Given the description of an element on the screen output the (x, y) to click on. 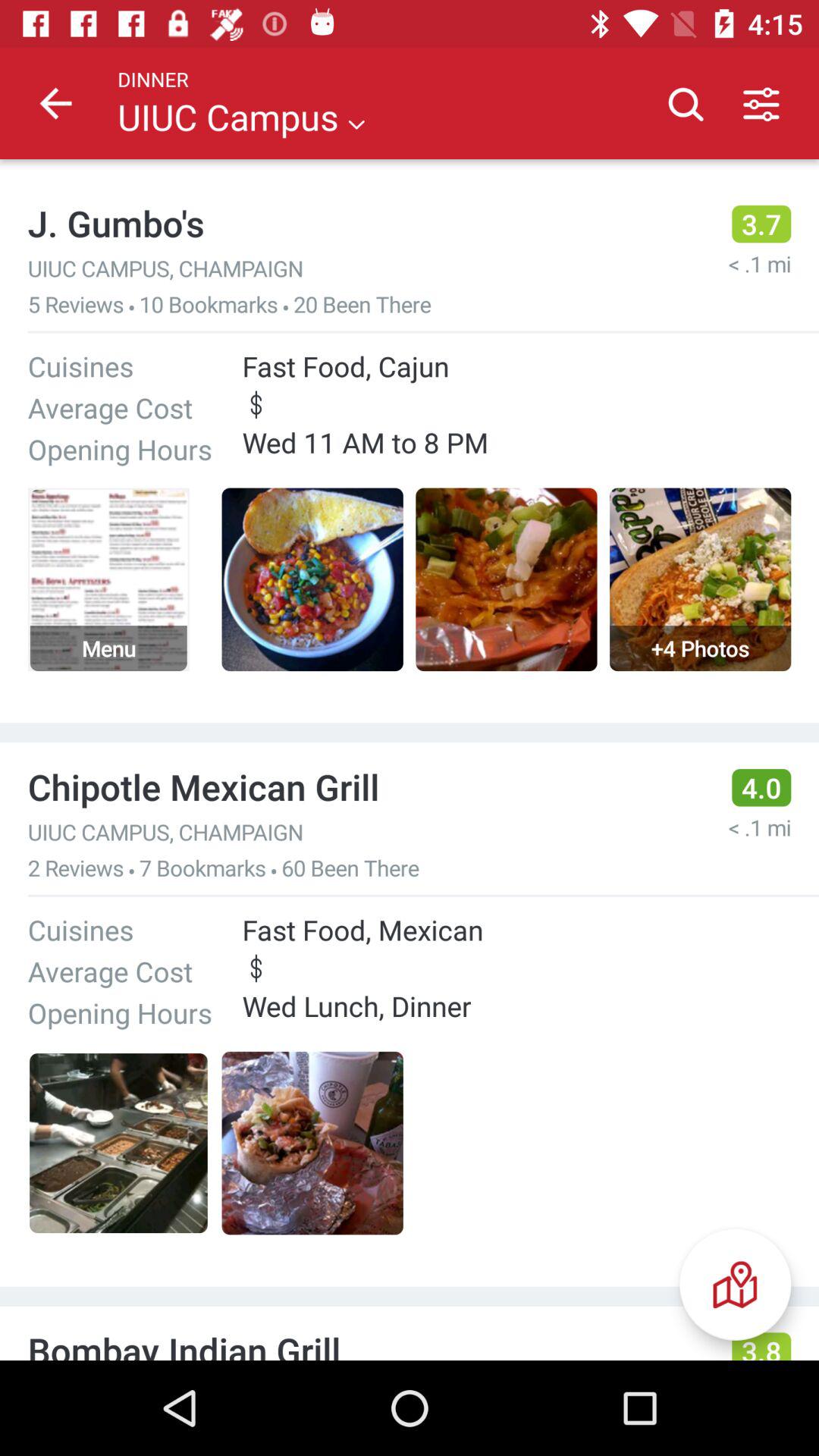
turn off the icon below the $ (735, 1284)
